Given the description of an element on the screen output the (x, y) to click on. 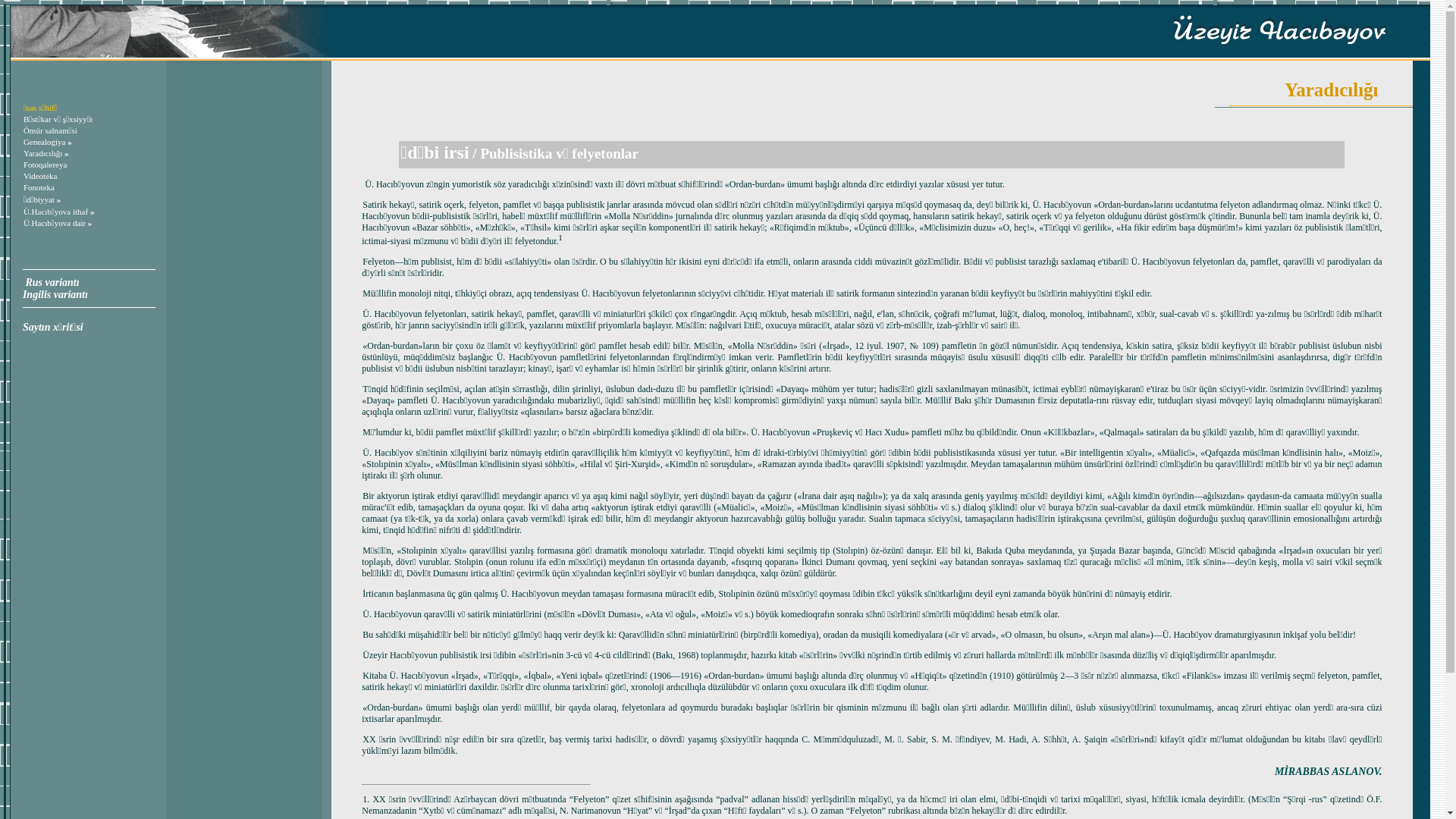
Videoteka Element type: text (40, 175)
Fotoqalereya Element type: text (44, 164)
Fonoteka Element type: text (38, 186)
Genealogiya Element type: text (44, 141)
1 Element type: text (560, 237)
